Given the description of an element on the screen output the (x, y) to click on. 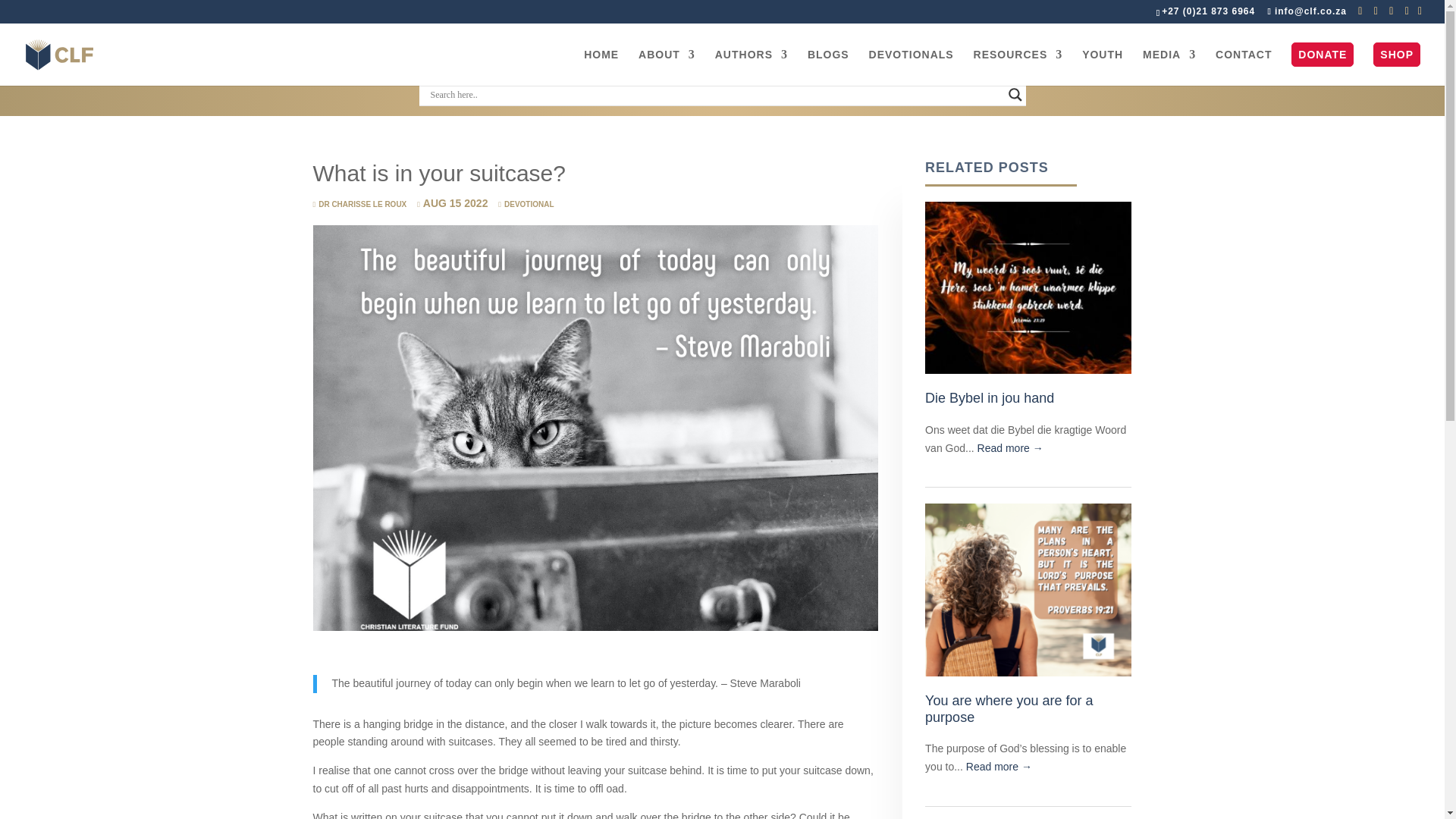
BLOGS (828, 67)
CONTACT (1243, 67)
DEVOTIONALS (911, 67)
AUTHORS (750, 67)
HOME (600, 67)
Posts by DR CHARISSE LE ROUX (359, 203)
MEDIA (1168, 67)
ABOUT (667, 67)
YOUTH (1101, 67)
DONATE (1322, 63)
RESOURCES (1018, 67)
